Given the description of an element on the screen output the (x, y) to click on. 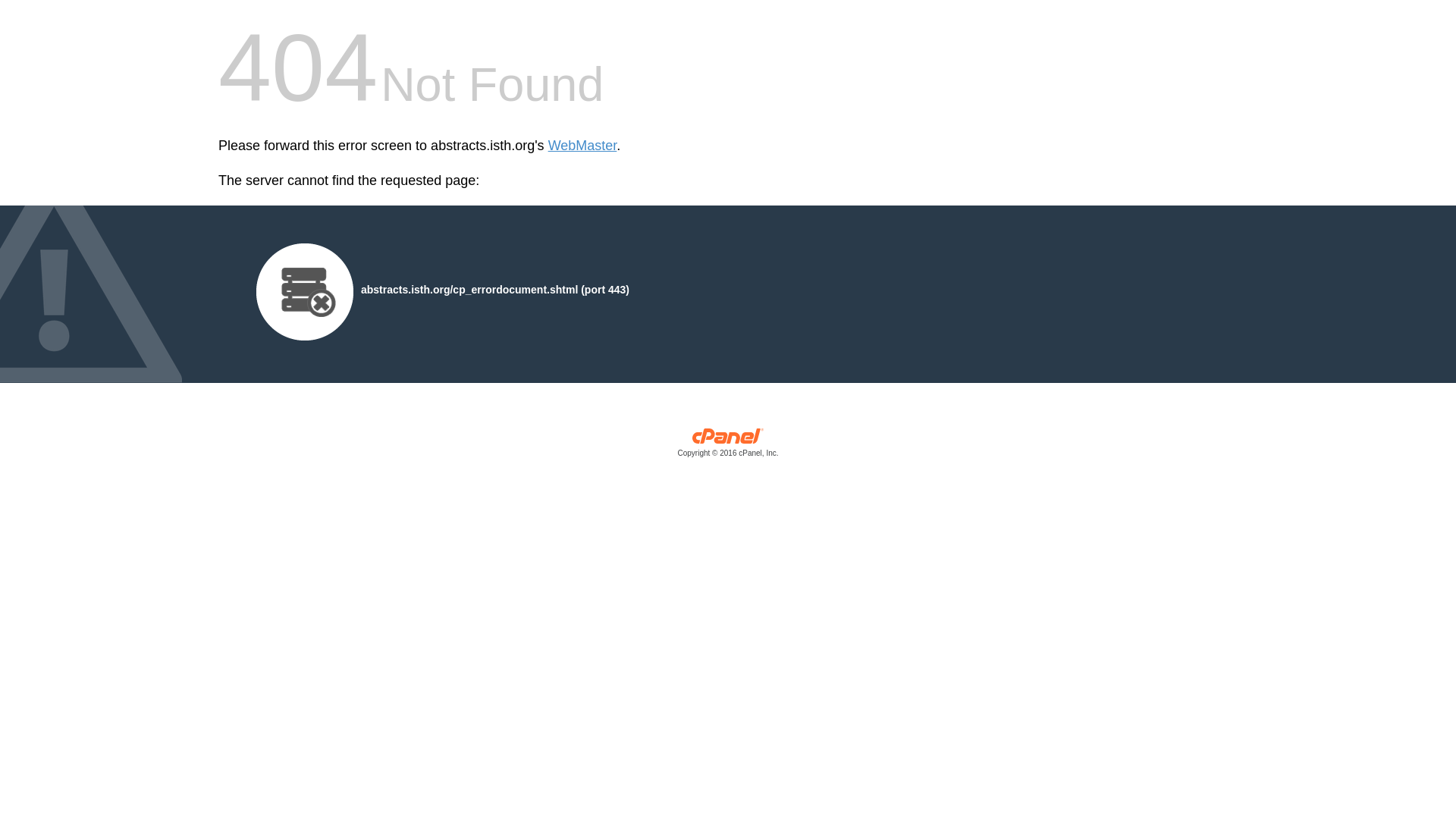
cPanel, Inc. (727, 446)
WebMaster (582, 145)
